Given the description of an element on the screen output the (x, y) to click on. 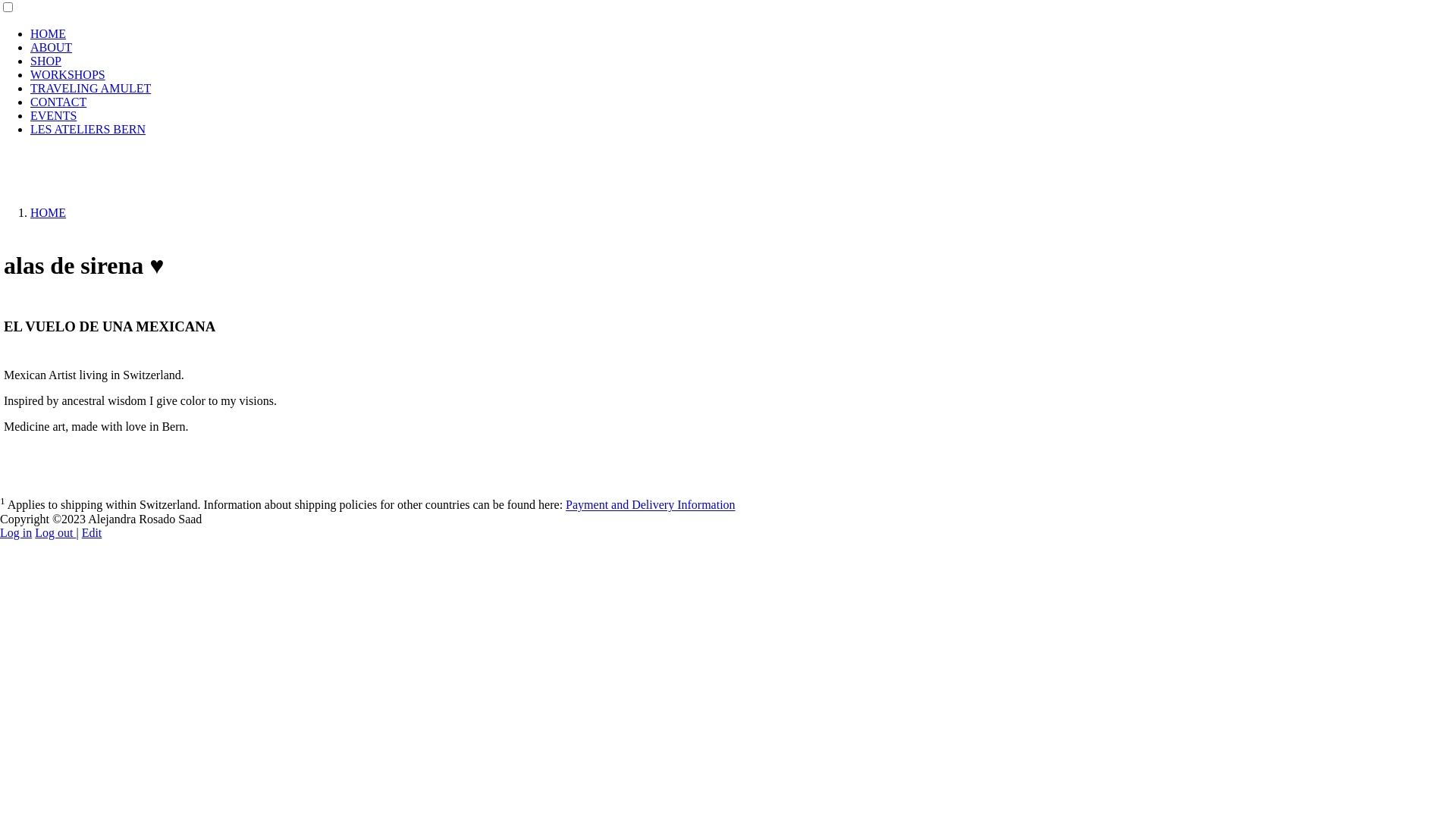
HOME Element type: text (47, 33)
Log out Element type: text (54, 532)
HOME Element type: text (47, 212)
WORKSHOPS Element type: text (67, 74)
LES ATELIERS BERN Element type: text (87, 128)
Log in Element type: text (15, 532)
Edit Element type: text (91, 532)
EVENTS Element type: text (53, 115)
CONTACT Element type: text (58, 101)
TRAVELING AMULET Element type: text (90, 87)
SHOP Element type: text (45, 60)
ABOUT Element type: text (51, 46)
Payment and Delivery Information Element type: text (650, 504)
